Given the description of an element on the screen output the (x, y) to click on. 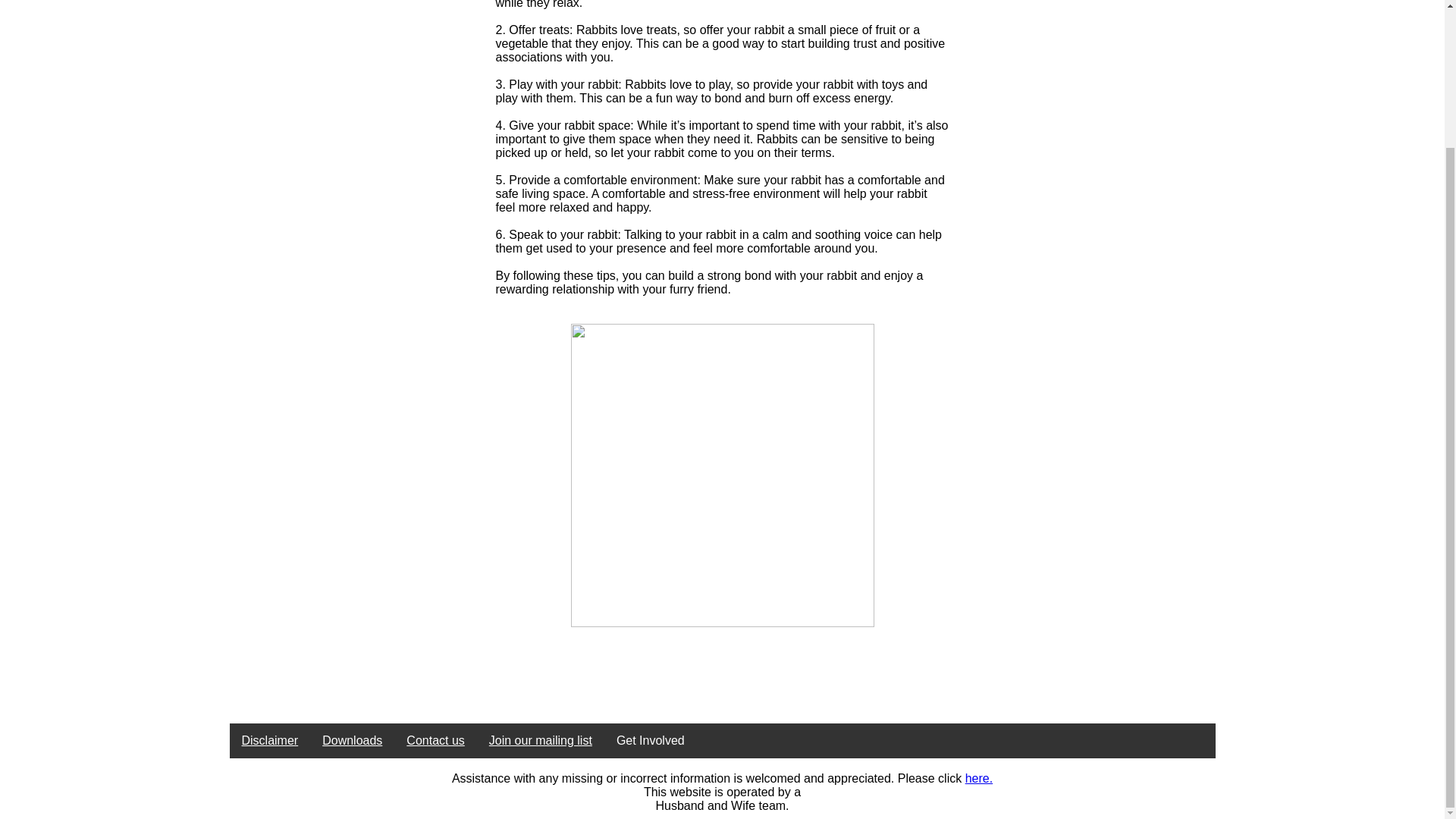
Husband and Wife team. (722, 805)
Disclaimer (269, 740)
Get Involved (650, 740)
Contact us (435, 740)
Join our mailing list (540, 740)
here. (978, 778)
Downloads (352, 740)
This website is operated by a (721, 791)
